Given the description of an element on the screen output the (x, y) to click on. 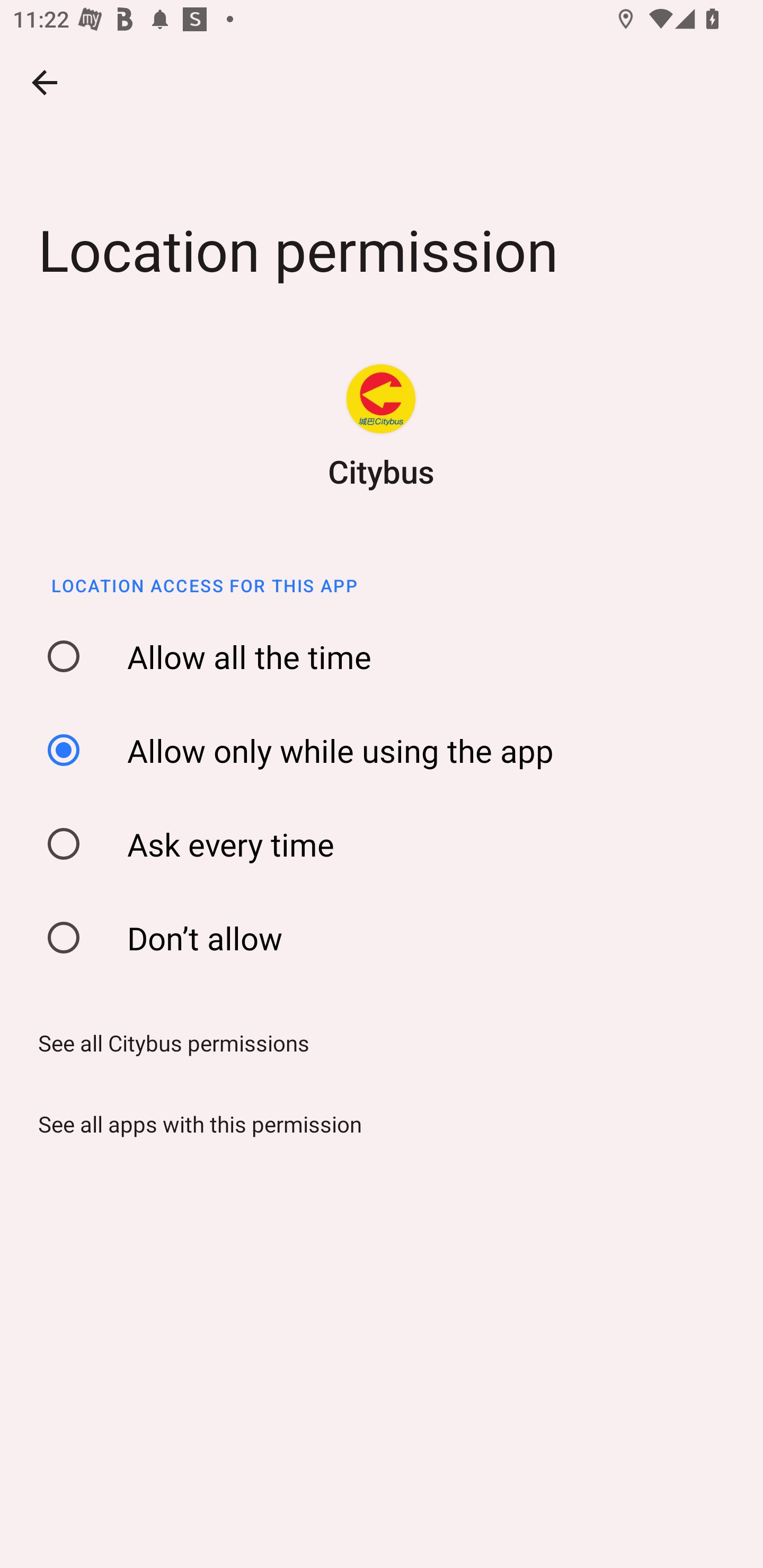
Back (44, 82)
Allow all the time (387, 656)
Allow only while using the app (387, 750)
Ask every time (387, 844)
Don’t allow (387, 937)
See all Citybus permissions (167, 1042)
See all apps with this permission (193, 1124)
